Given the description of an element on the screen output the (x, y) to click on. 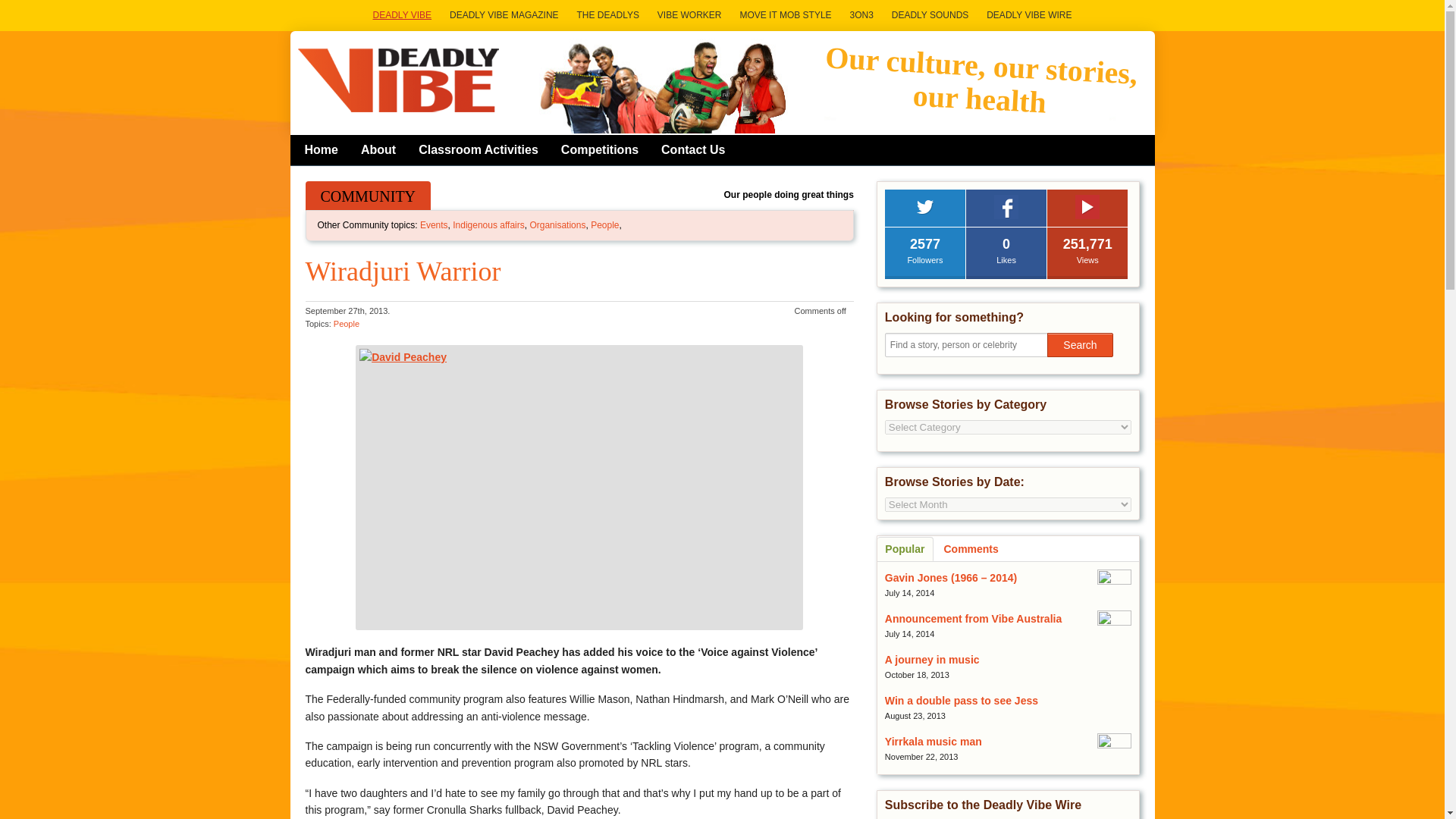
Win a double pass to see Jess (961, 700)
Announcement from Vibe Australia (973, 618)
Deadly Vibe (398, 80)
MOVE IT MOB STYLE (785, 15)
Home (321, 149)
3ON3 (860, 15)
Search (1079, 344)
People (346, 323)
THE DEADLYS (607, 15)
DEADLY VIBE (402, 15)
